Given the description of an element on the screen output the (x, y) to click on. 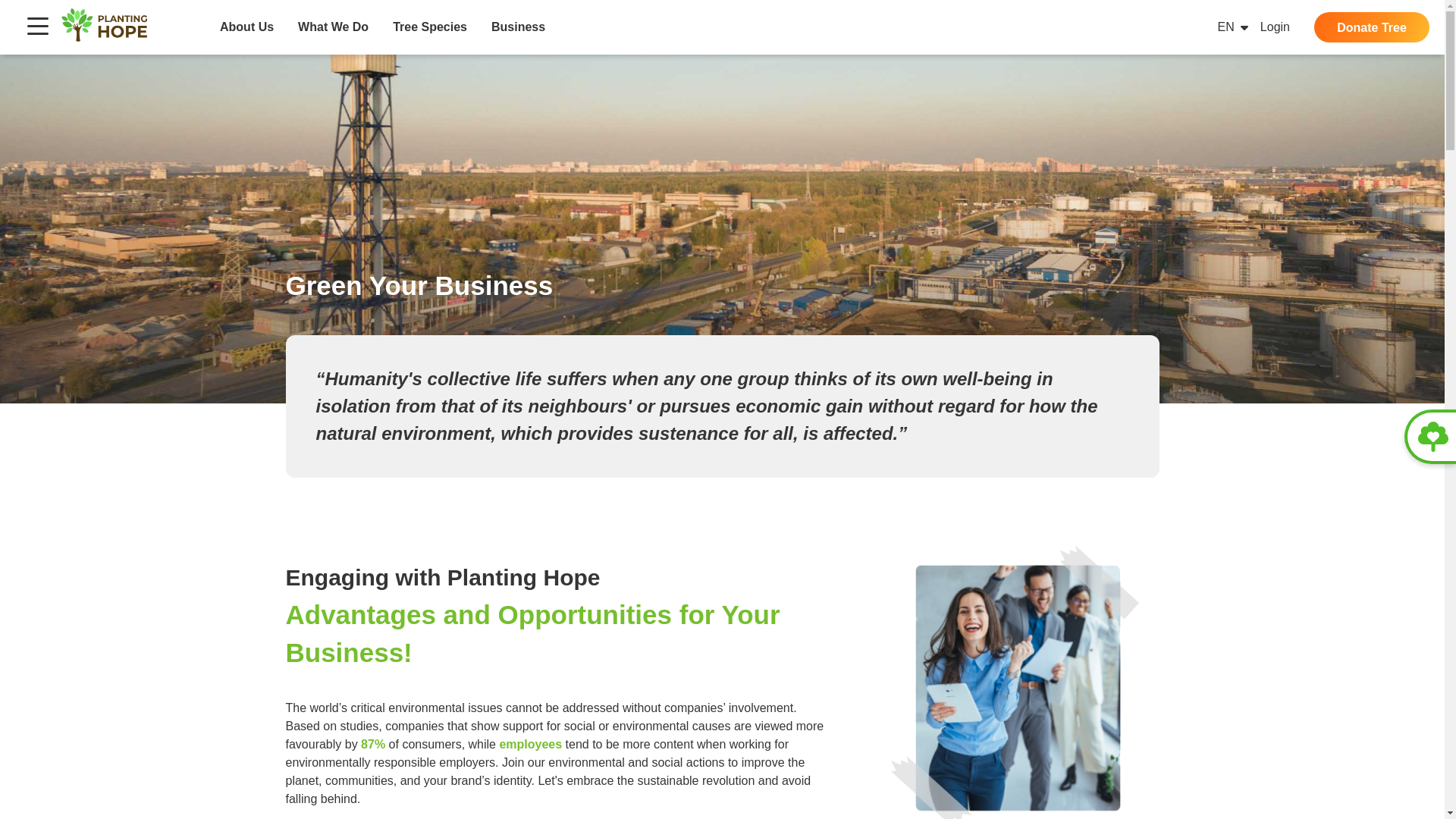
employees (530, 744)
Login (1275, 27)
Business (518, 27)
What We Do (333, 27)
About Us (246, 27)
Donate Tree (1371, 27)
Tree Species (430, 27)
